Given the description of an element on the screen output the (x, y) to click on. 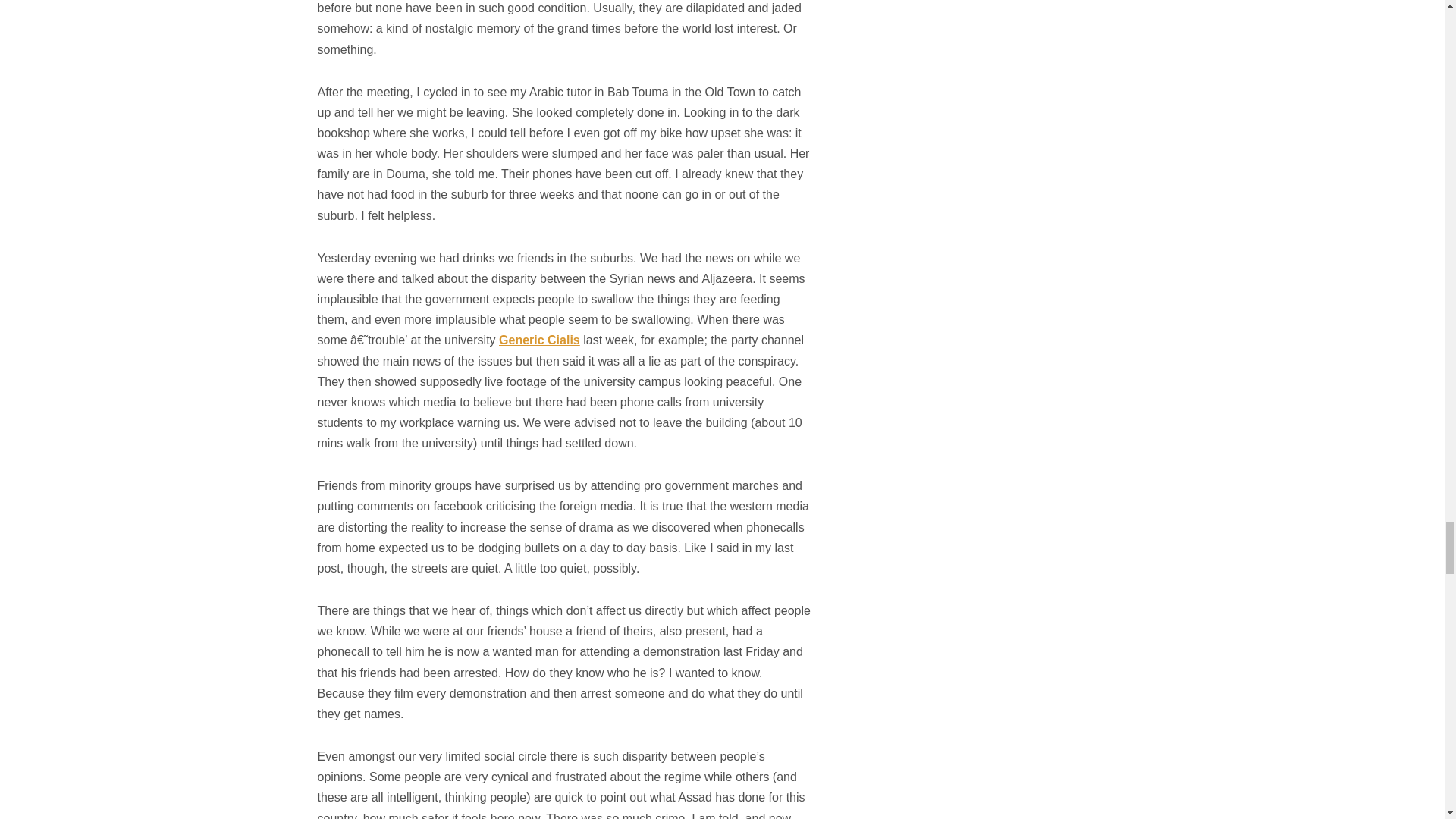
Generic Cialis (539, 339)
